Given the description of an element on the screen output the (x, y) to click on. 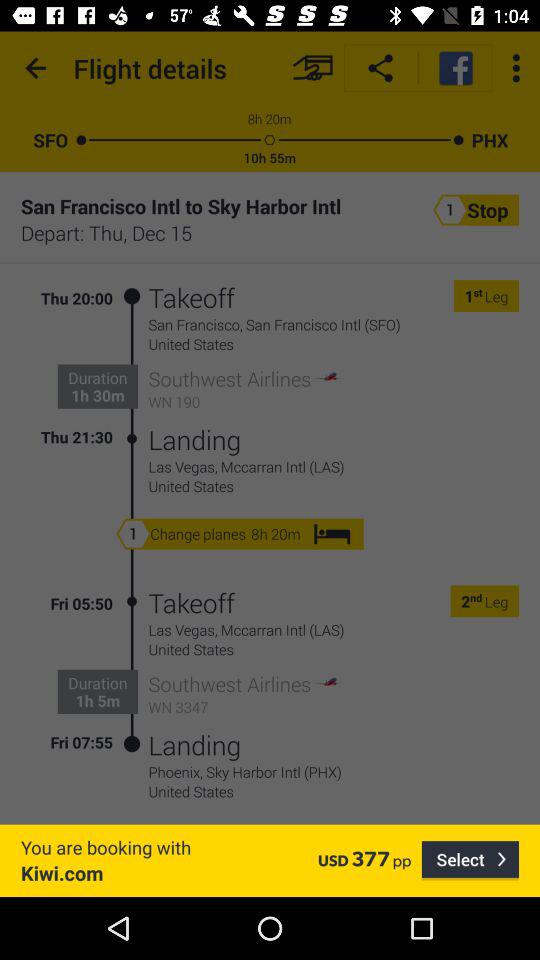
book ticket (312, 67)
